Given the description of an element on the screen output the (x, y) to click on. 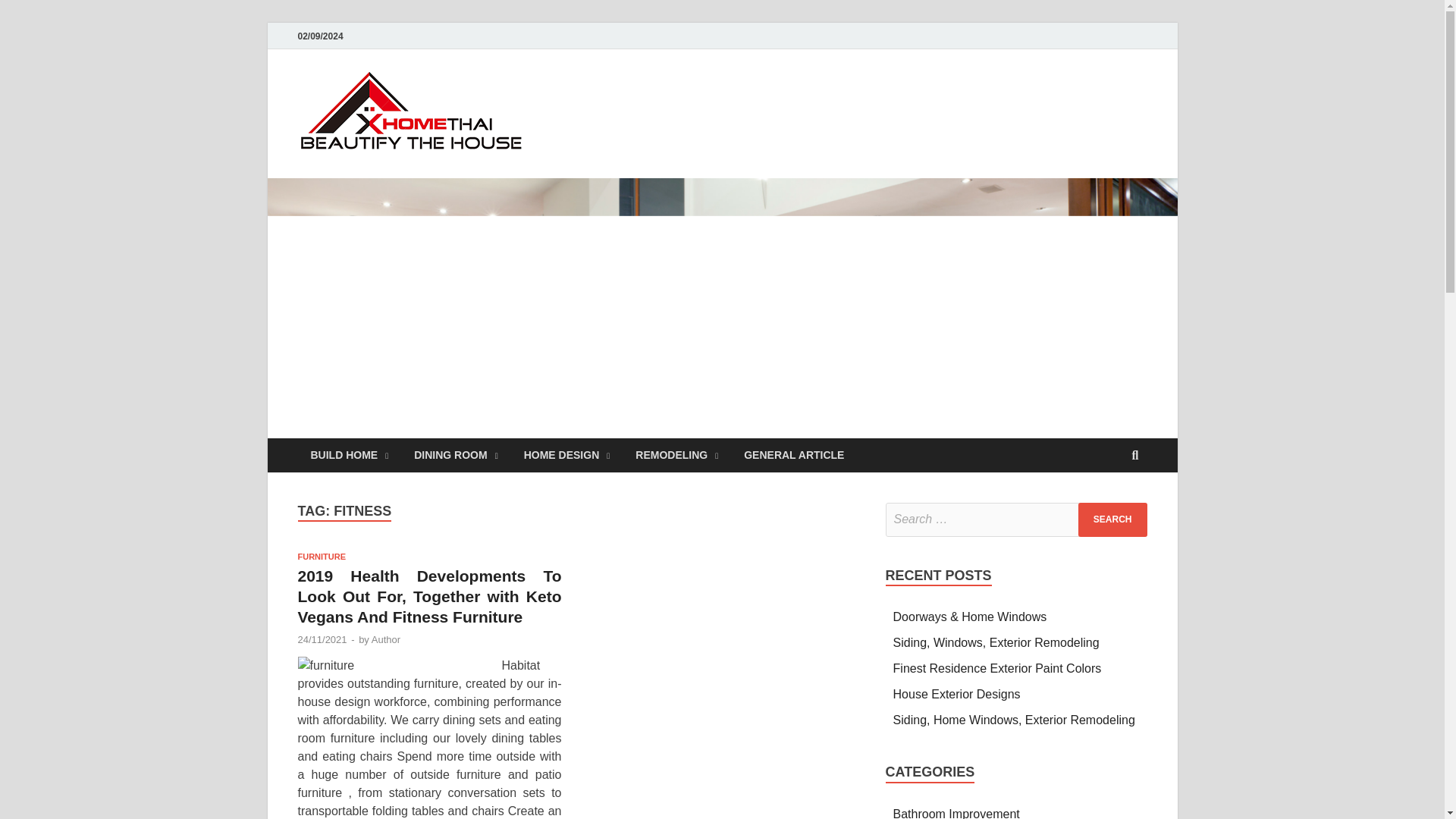
BUILD HOME (349, 455)
Finest Residence Exterior Paint Colors (997, 667)
Search (1112, 519)
House Exterior Designs (956, 694)
Search (1112, 519)
FURNITURE (321, 556)
GENERAL ARTICLE (793, 455)
homethai.net (621, 100)
HOME DESIGN (567, 455)
REMODELING (676, 455)
